Given the description of an element on the screen output the (x, y) to click on. 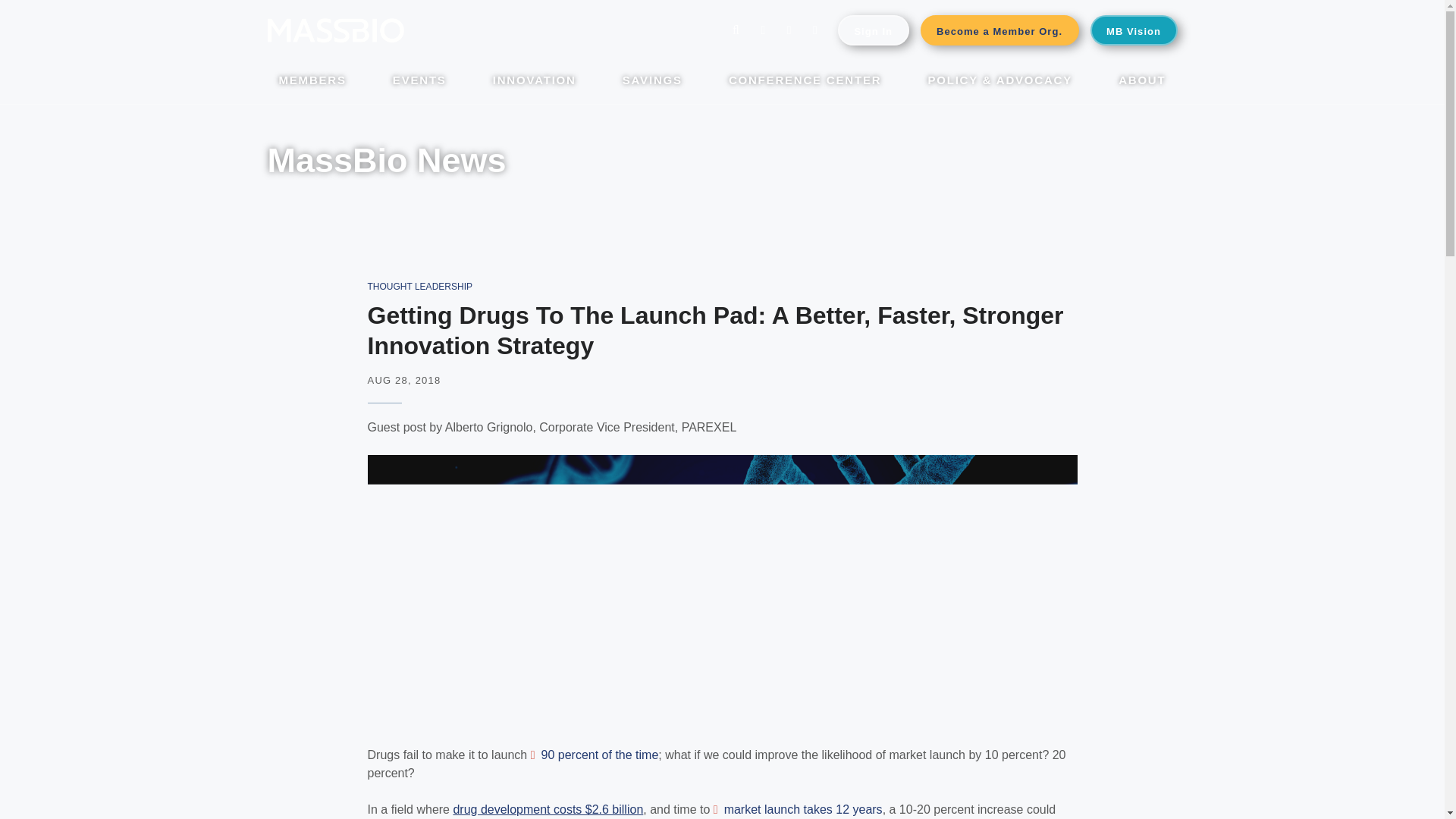
Become a Member Org. (999, 30)
MassBio (334, 30)
Sign In (873, 30)
CONFERENCE CENTER (804, 82)
SAVINGS (652, 82)
EVENTS (419, 82)
INNOVATION (534, 82)
MB Vision (1133, 30)
MEMBERS (312, 82)
